Given the description of an element on the screen output the (x, y) to click on. 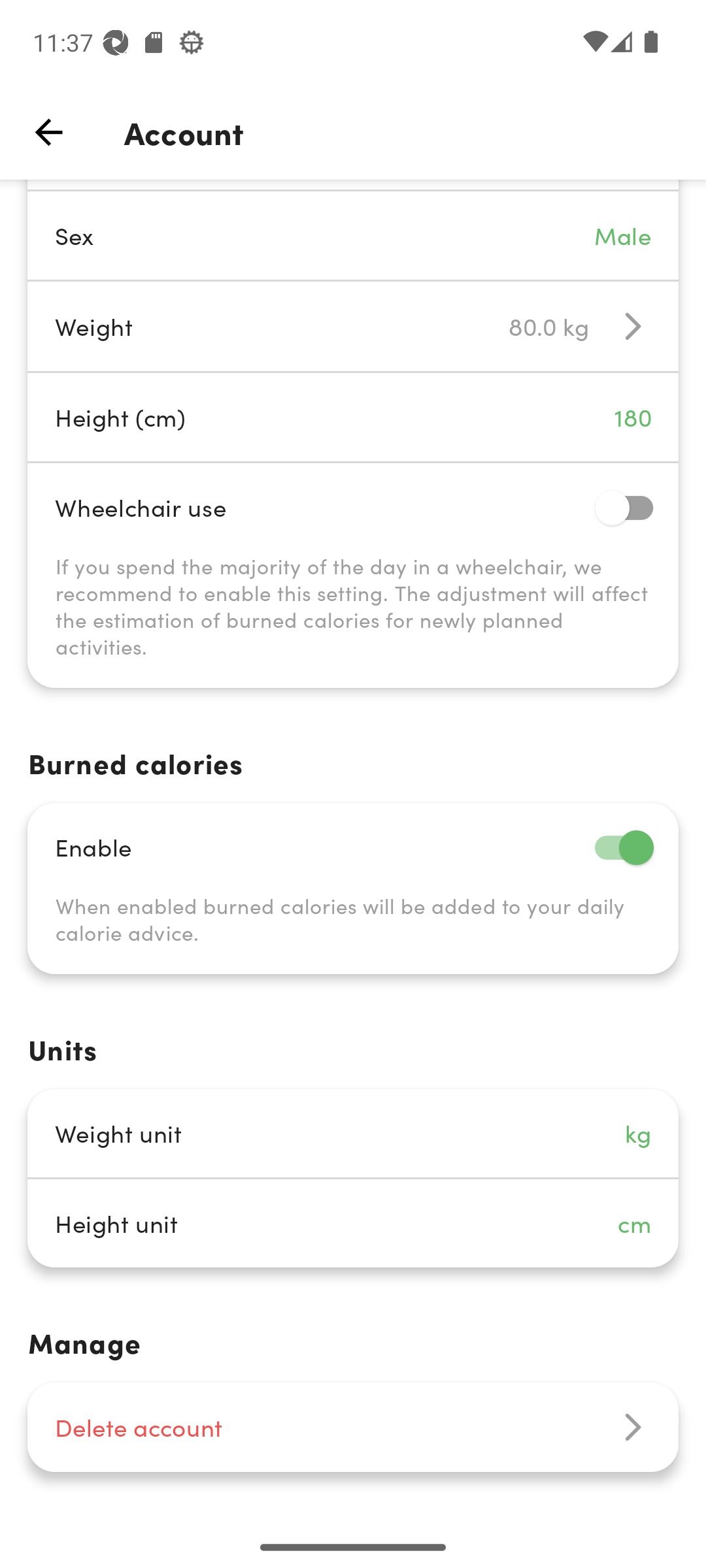
top_left_action (48, 132)
Sex Male (352, 235)
Weight 80.0 kg (352, 326)
Height (cm) 180 (352, 416)
Wheelchair use (352, 506)
Enable (352, 846)
Weight unit kg (352, 1133)
Height unit cm (352, 1222)
Delete account (352, 1427)
